Given the description of an element on the screen output the (x, y) to click on. 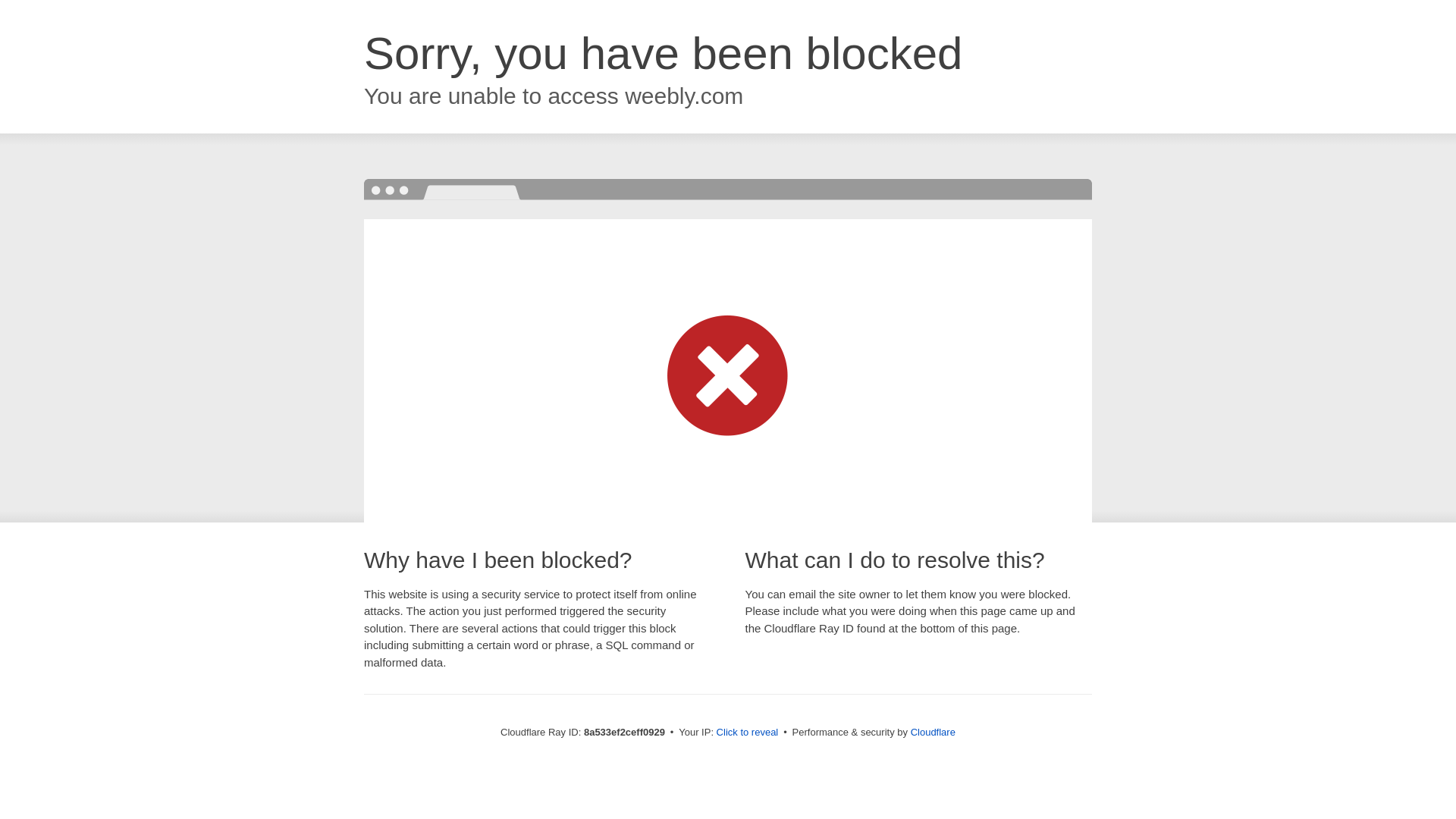
Cloudflare (933, 731)
Click to reveal (747, 732)
